Given the description of an element on the screen output the (x, y) to click on. 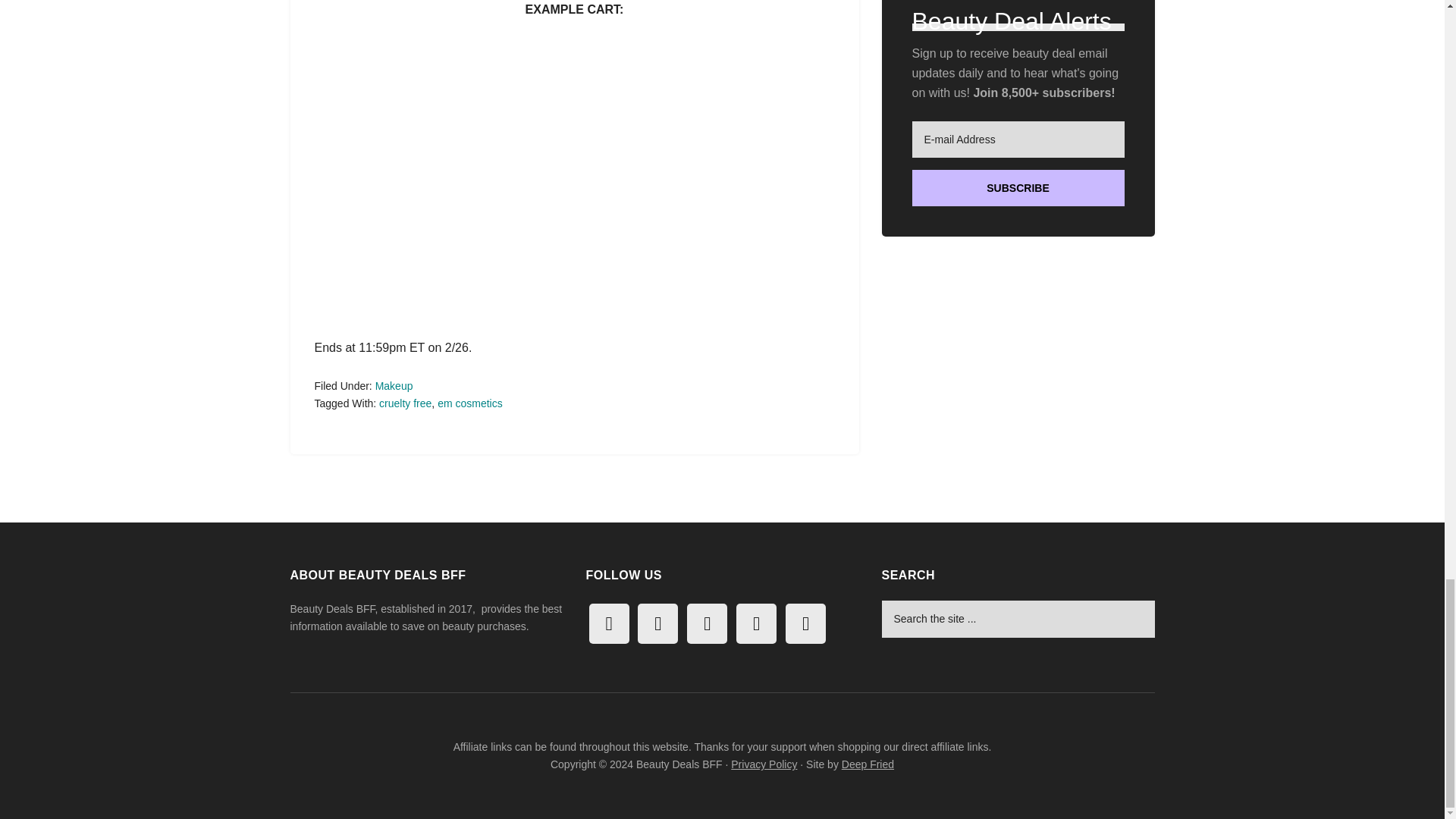
Default Label (706, 623)
Default Label (657, 623)
Subscribe (1017, 187)
Default Label (608, 623)
